Given the description of an element on the screen output the (x, y) to click on. 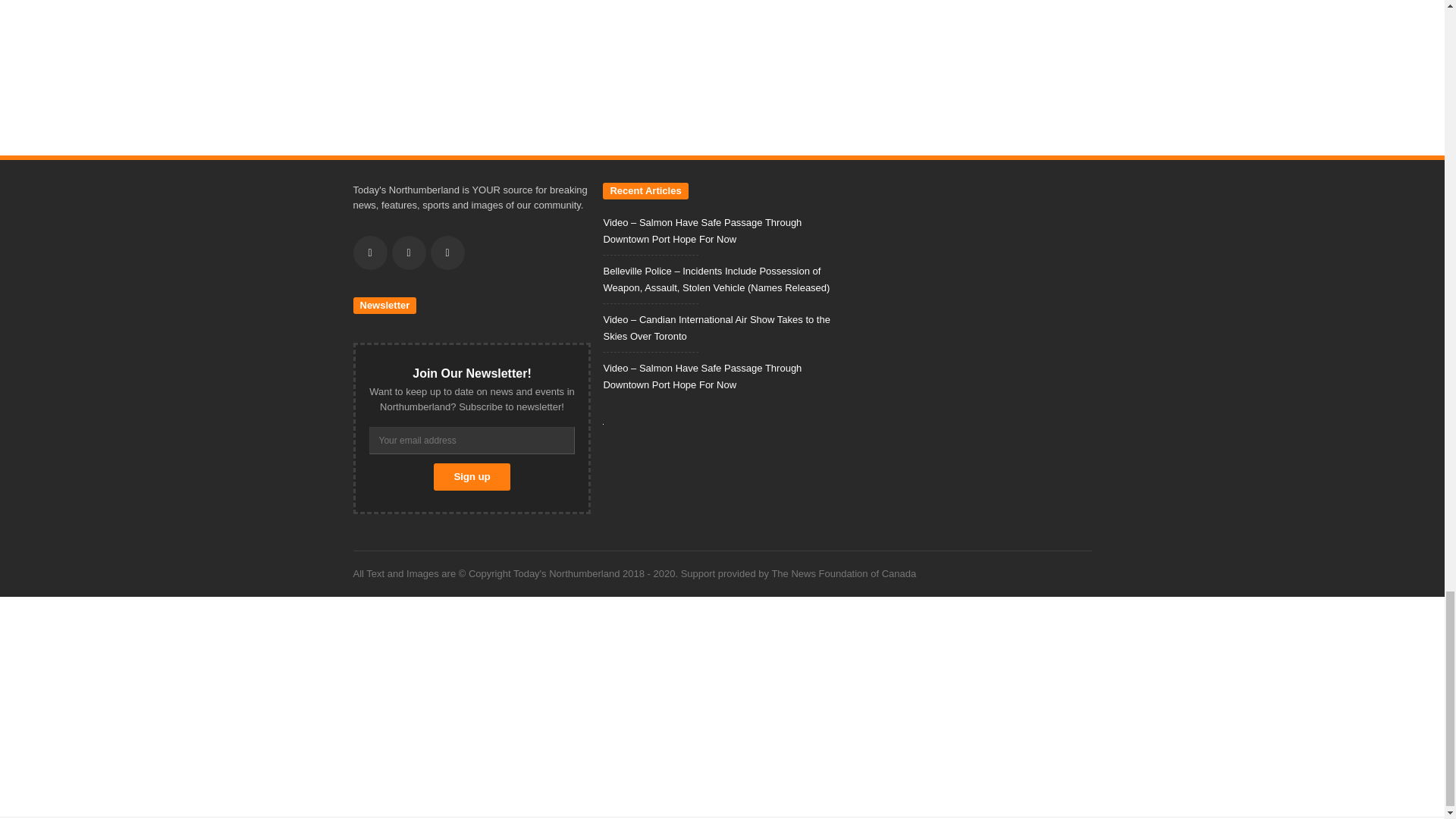
Sign up (471, 476)
Instagram (447, 252)
Advertisement (722, 74)
Twitter (408, 252)
Facebook (370, 252)
